Given the description of an element on the screen output the (x, y) to click on. 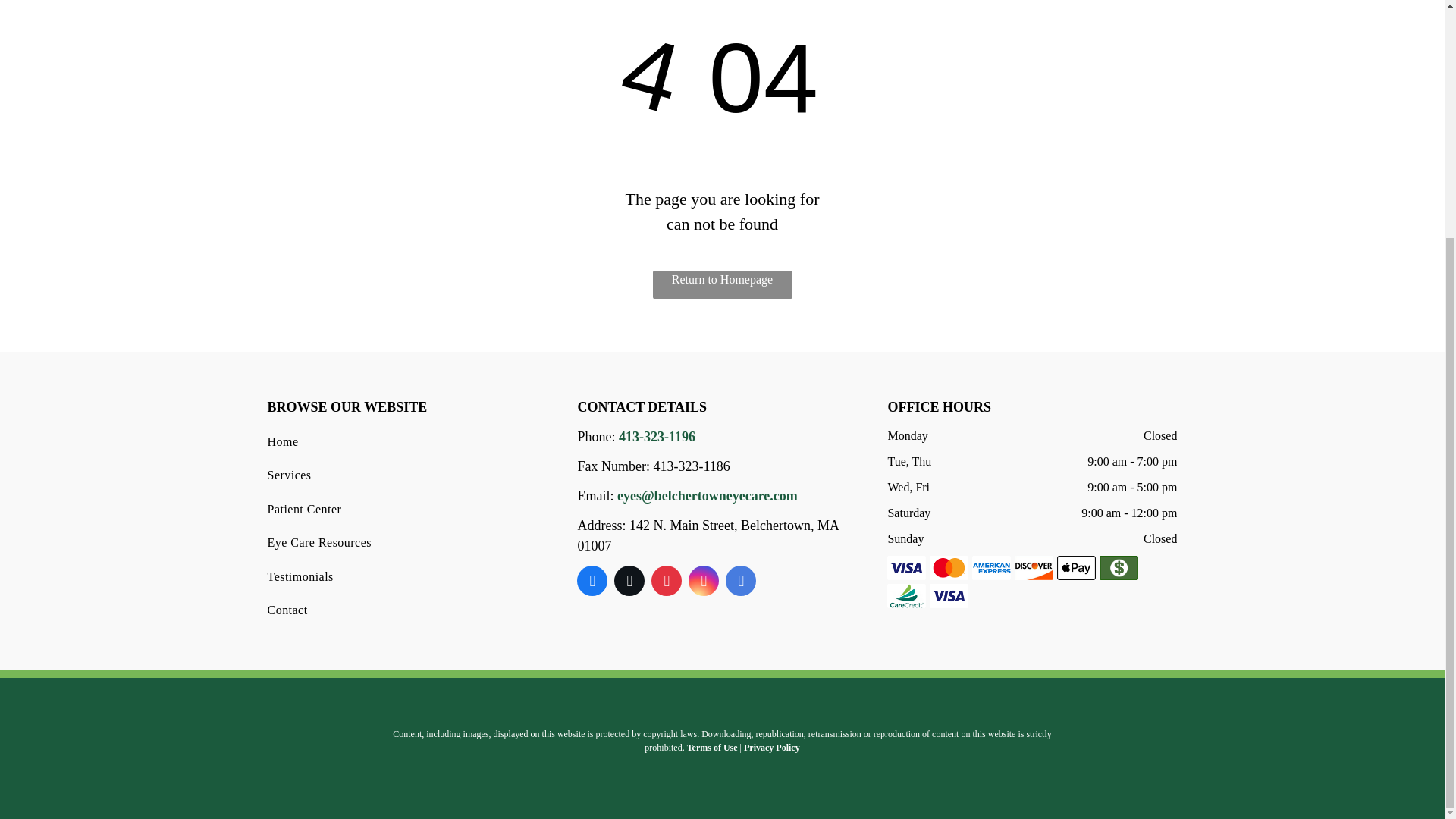
Home (405, 441)
Privacy Policy (771, 747)
Eye Care Resources (405, 542)
413-323-1196 (656, 436)
Return to Homepage (722, 284)
Patient Center (405, 509)
Terms of Use (712, 747)
Testimonials (405, 575)
Services (405, 475)
Contact (405, 610)
